Given the description of an element on the screen output the (x, y) to click on. 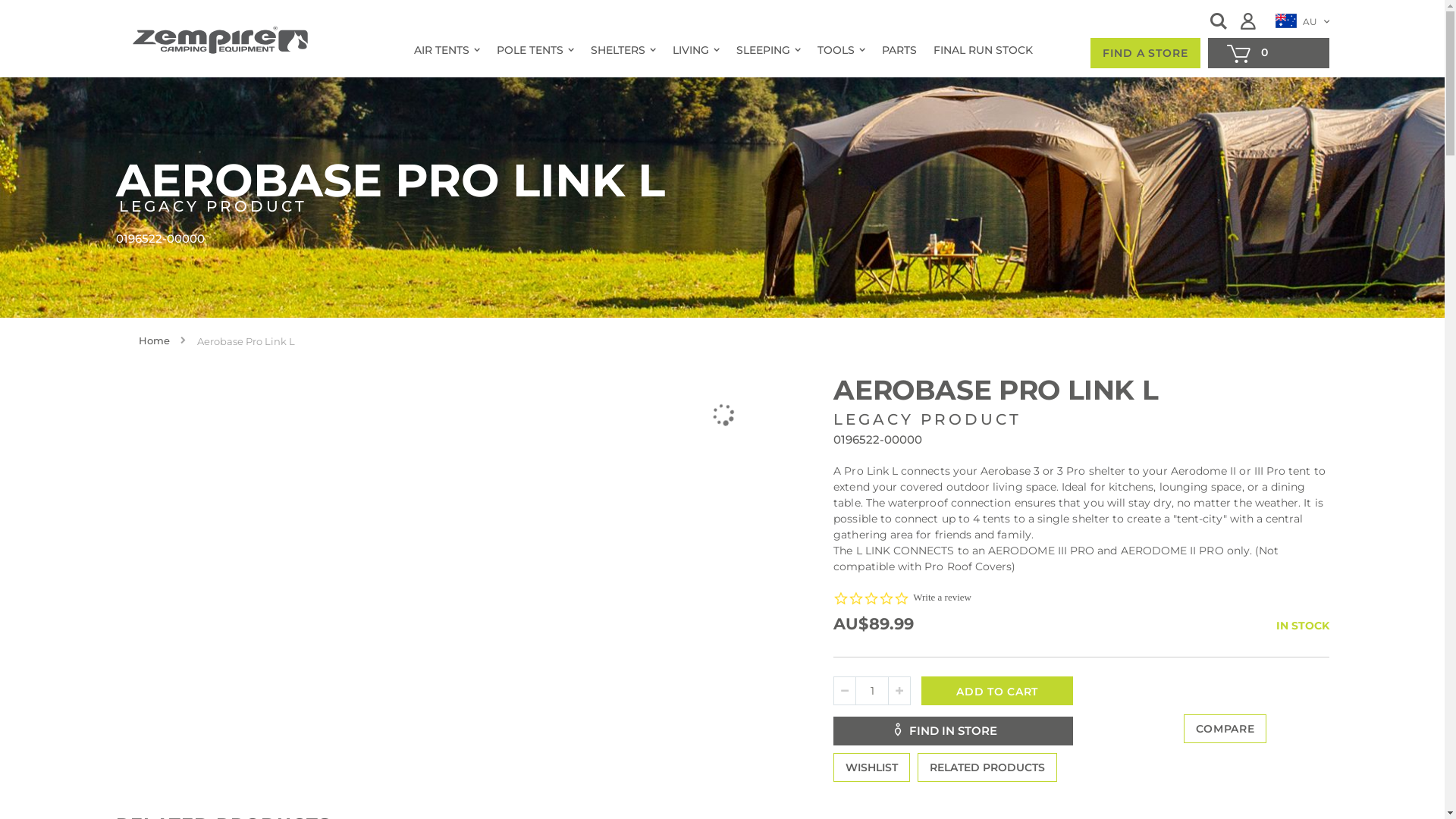
Sign In Element type: text (1252, 20)
Home Element type: text (153, 340)
FIND A STORE Element type: text (1144, 52)
AIR TENTS Element type: text (444, 50)
SHELTERS Element type: text (619, 50)
SLEEPING Element type: text (765, 50)
FINAL RUN STOCK Element type: text (979, 50)
zempire camping Element type: hover (221, 40)
LIVING Element type: text (692, 50)
ADD TO CART Element type: text (997, 690)
SEARCH Element type: text (1218, 21)
PARTS Element type: text (896, 50)
RELATED PRODUCTS Element type: text (987, 767)
Write a review Element type: text (942, 597)
Cart
0 Element type: text (1267, 52)
FIND IN STORE Element type: text (953, 730)
POLE TENTS Element type: text (531, 50)
Qty Element type: hover (871, 690)
TOOLS Element type: text (838, 50)
